Given the description of an element on the screen output the (x, y) to click on. 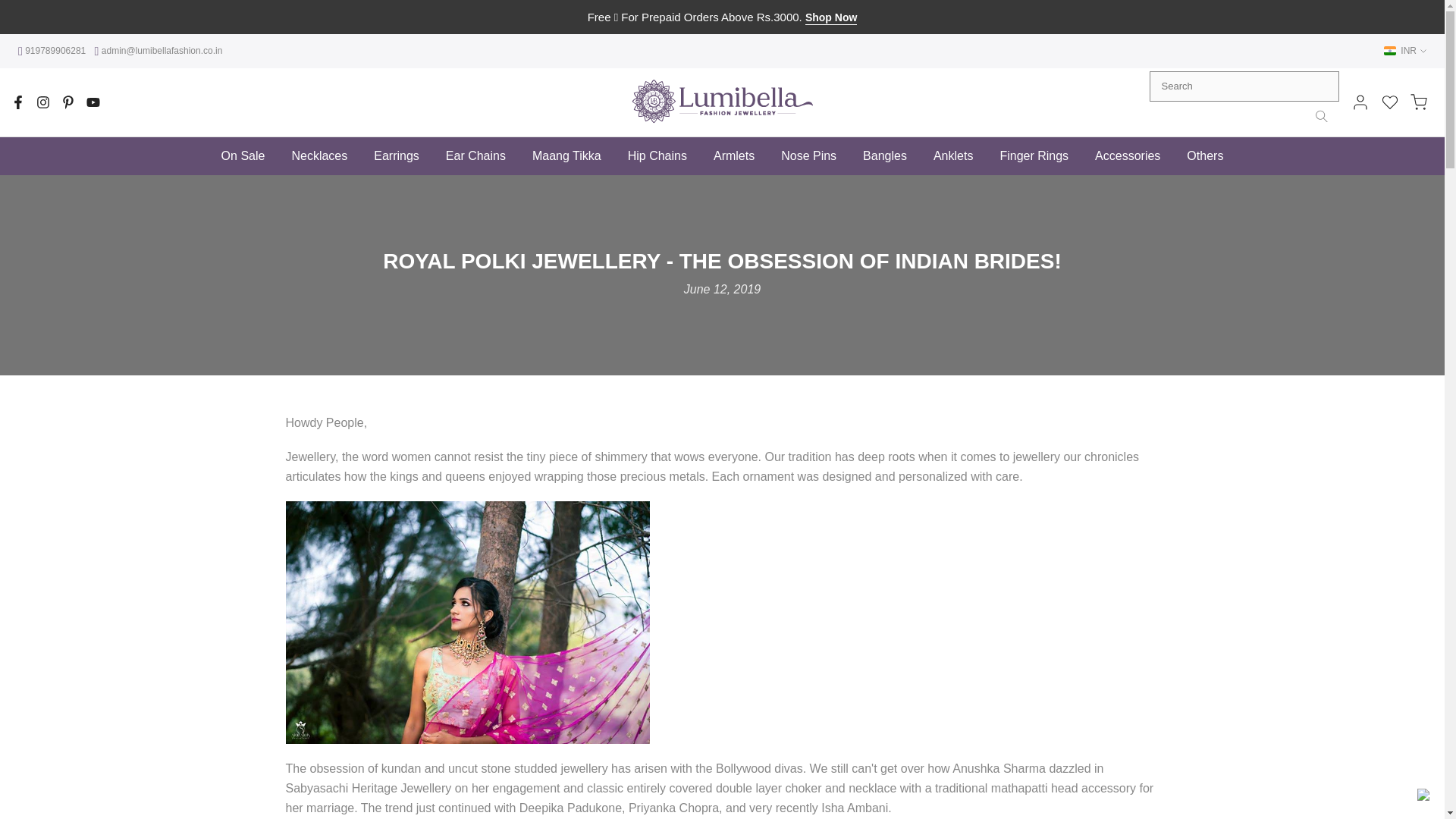
Skip to content (10, 7)
Shop Now (831, 17)
INR (1405, 50)
919789906281 (52, 50)
